Given the description of an element on the screen output the (x, y) to click on. 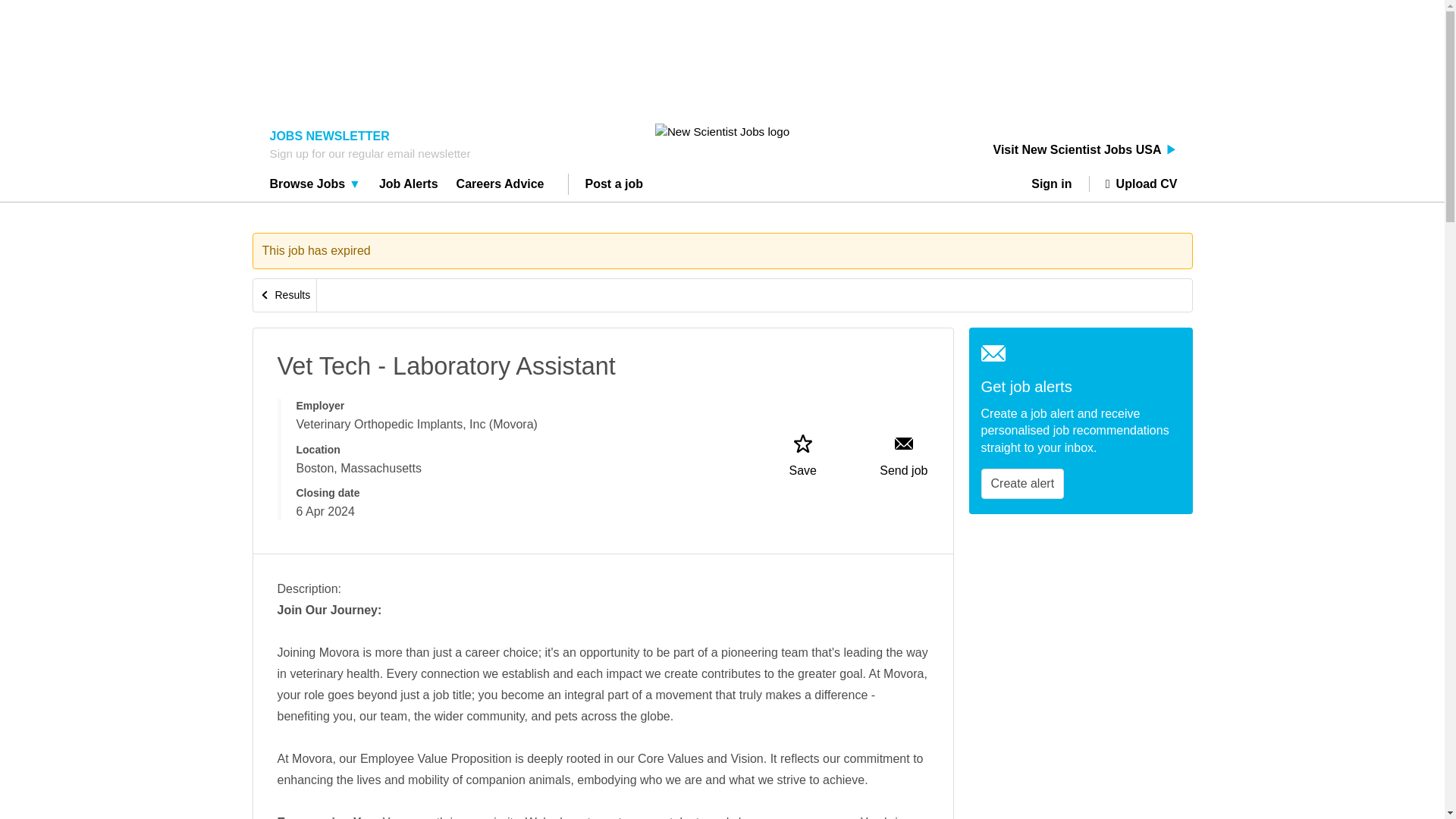
Sign in (1057, 183)
New Scientist Jobs (722, 131)
Job Alerts (409, 186)
Results (285, 295)
Post a job (614, 186)
Visit New Scientist Jobs USA (1084, 149)
Careers Advice (500, 186)
Upload CV (1133, 183)
